Given the description of an element on the screen output the (x, y) to click on. 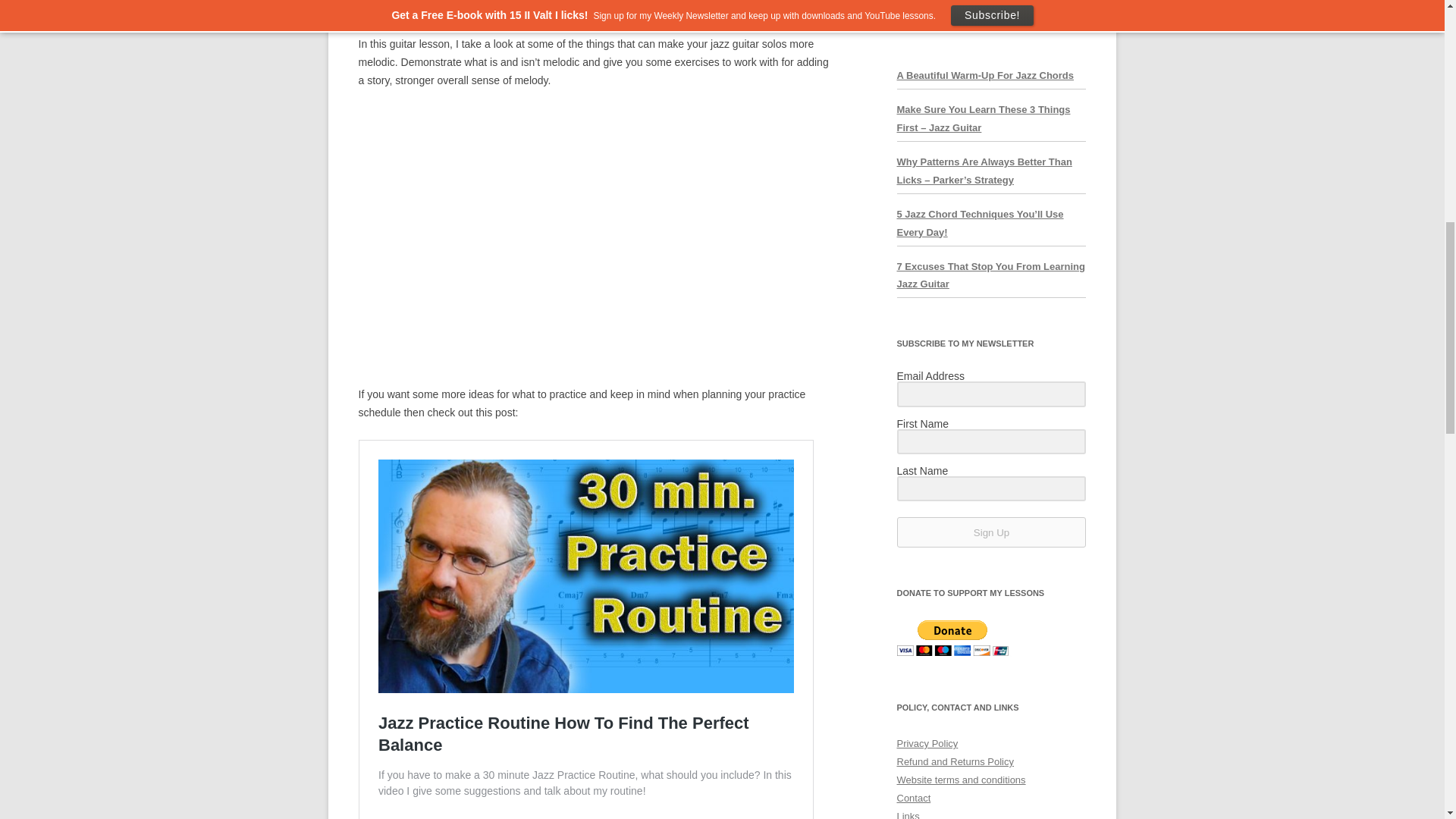
What You Should Be Practicing! - Melodic Jazz Solos (594, 240)
